Given the description of an element on the screen output the (x, y) to click on. 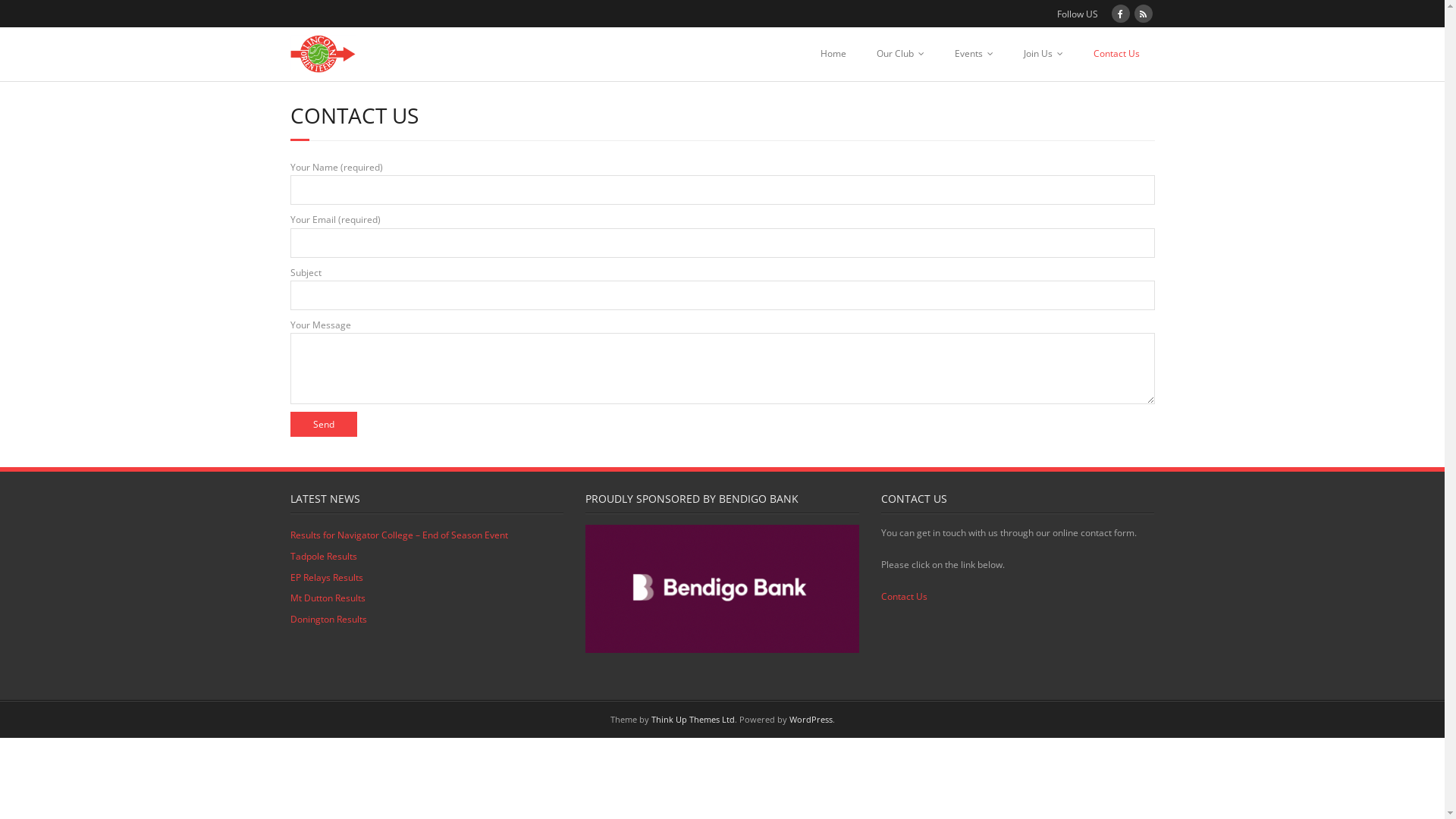
Send Element type: text (322, 423)
Home Element type: text (833, 53)
Join Us Element type: text (1043, 53)
Our Club Element type: text (900, 53)
EP Relays Results Element type: text (325, 577)
Contact Us Element type: text (904, 595)
Contact Us Element type: text (1116, 53)
Mt Dutton Results Element type: text (326, 598)
WordPress Element type: text (809, 718)
Donington Results Element type: text (327, 619)
Tadpole Results Element type: text (322, 556)
Events Element type: text (972, 53)
Think Up Themes Ltd Element type: text (692, 718)
